Given the description of an element on the screen output the (x, y) to click on. 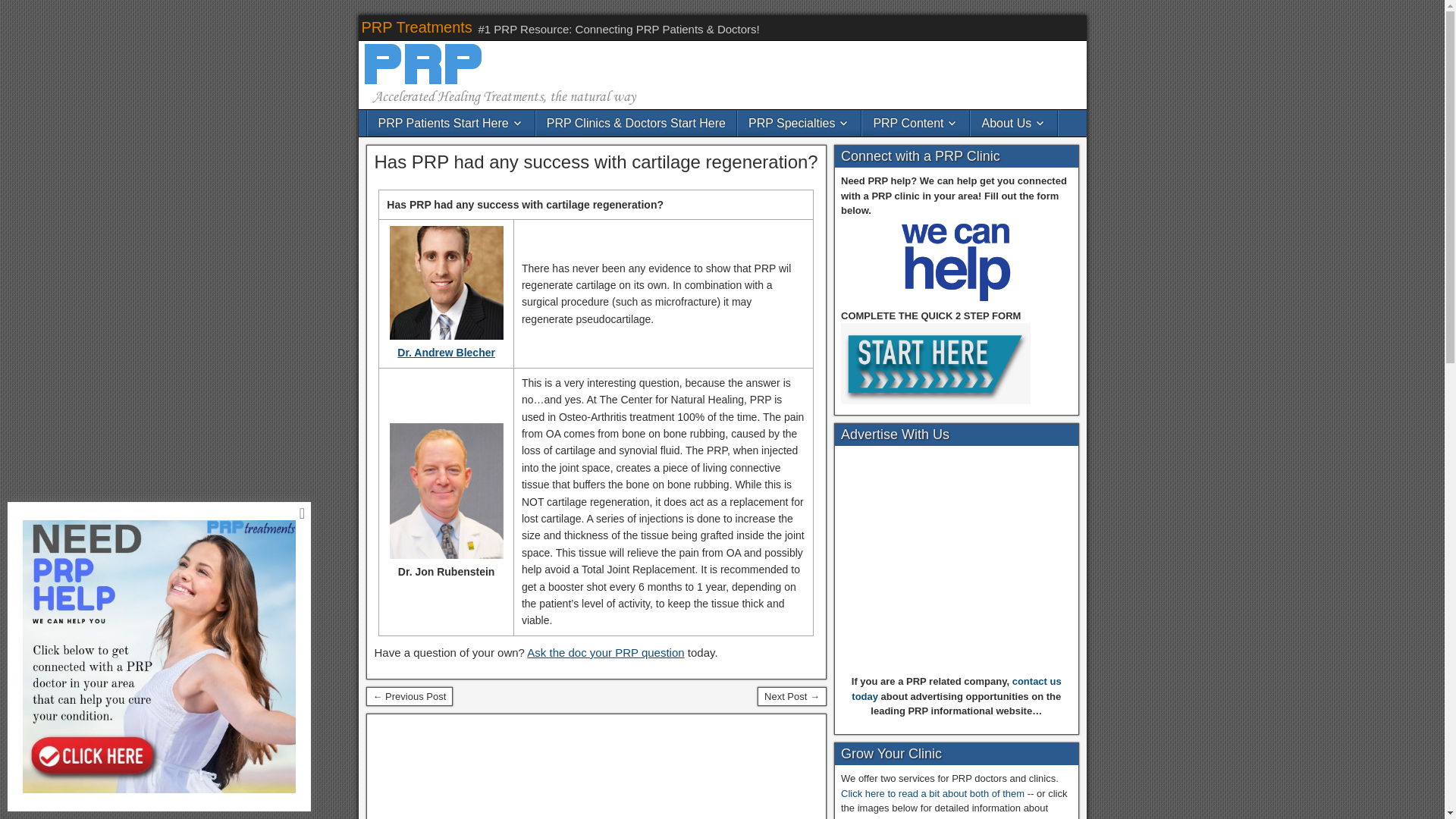
Dr. Andrew Blecher (446, 352)
Advertisement (956, 565)
PRP Treatments (416, 26)
Dr. Andrew Blecher (446, 336)
PRP Specialties (799, 121)
PRP Patients Start Here (450, 121)
Dr. Andrew Blecher (446, 282)
Platelet Rich Plasma Patient Experience for Herniated Discs (408, 696)
About Us (1014, 121)
Ask the Doc (605, 652)
